Given the description of an element on the screen output the (x, y) to click on. 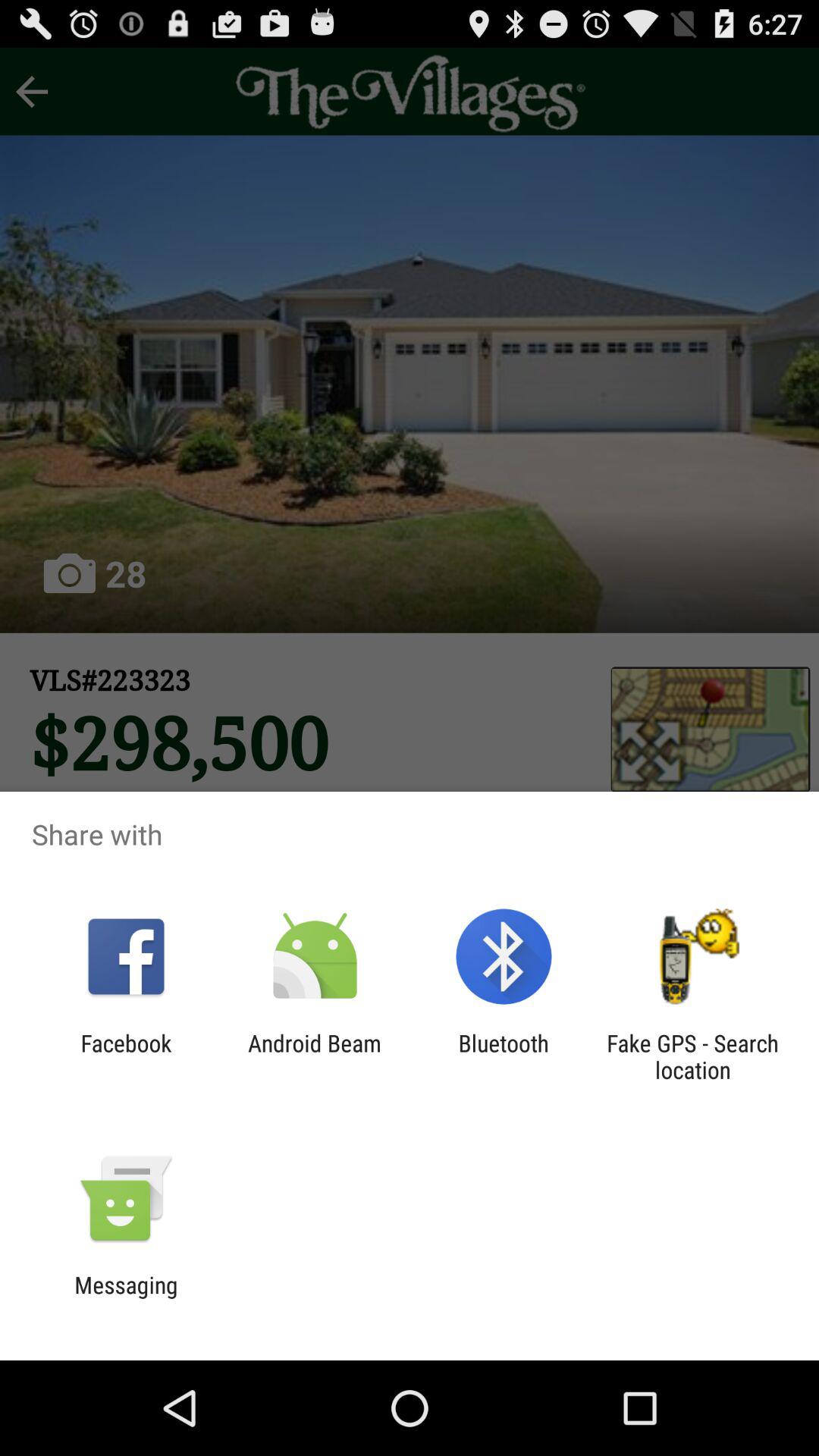
swipe to the bluetooth item (503, 1056)
